Given the description of an element on the screen output the (x, y) to click on. 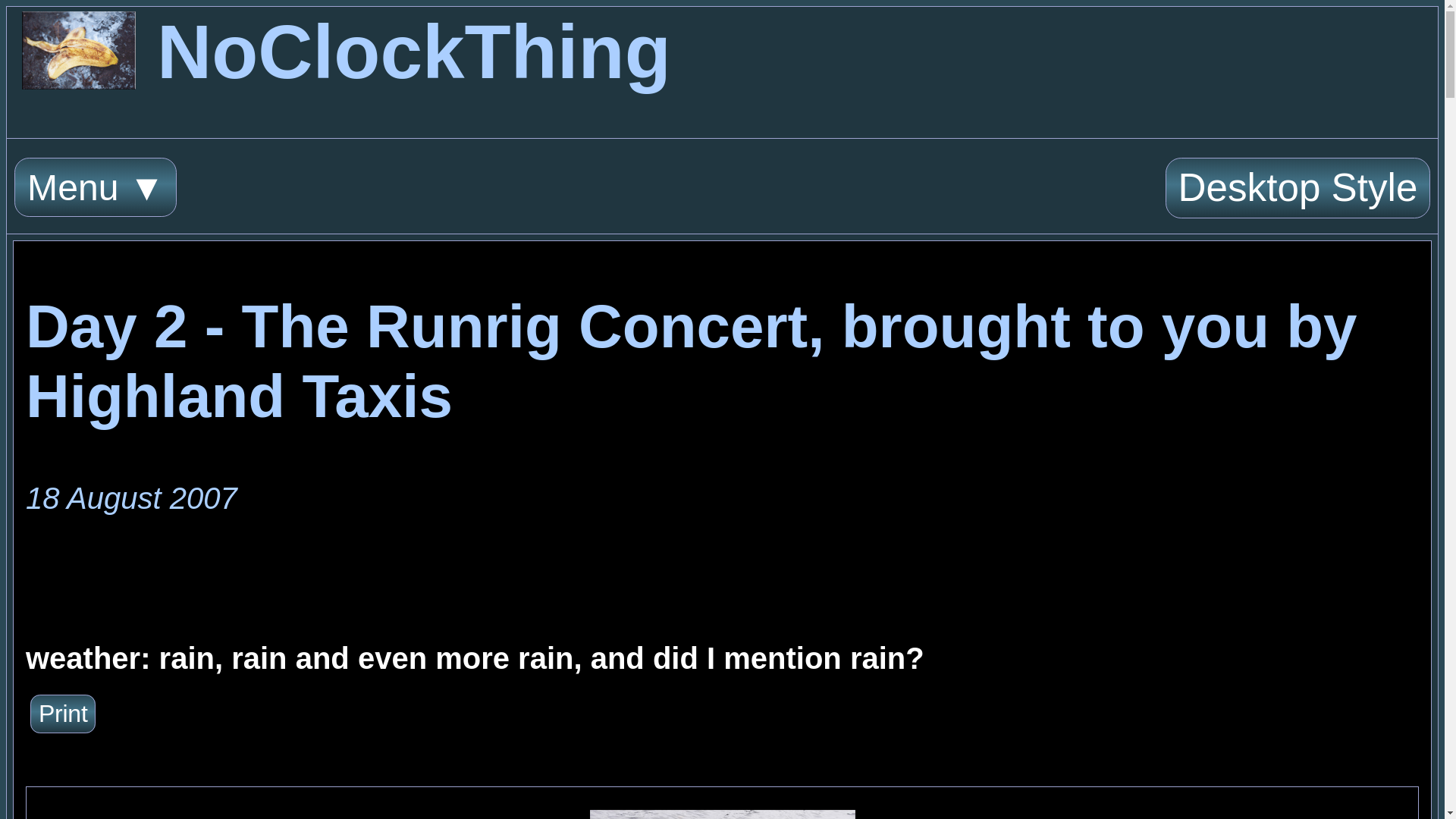
Print (63, 713)
Desktop Style (1297, 187)
Print View (63, 713)
